Given the description of an element on the screen output the (x, y) to click on. 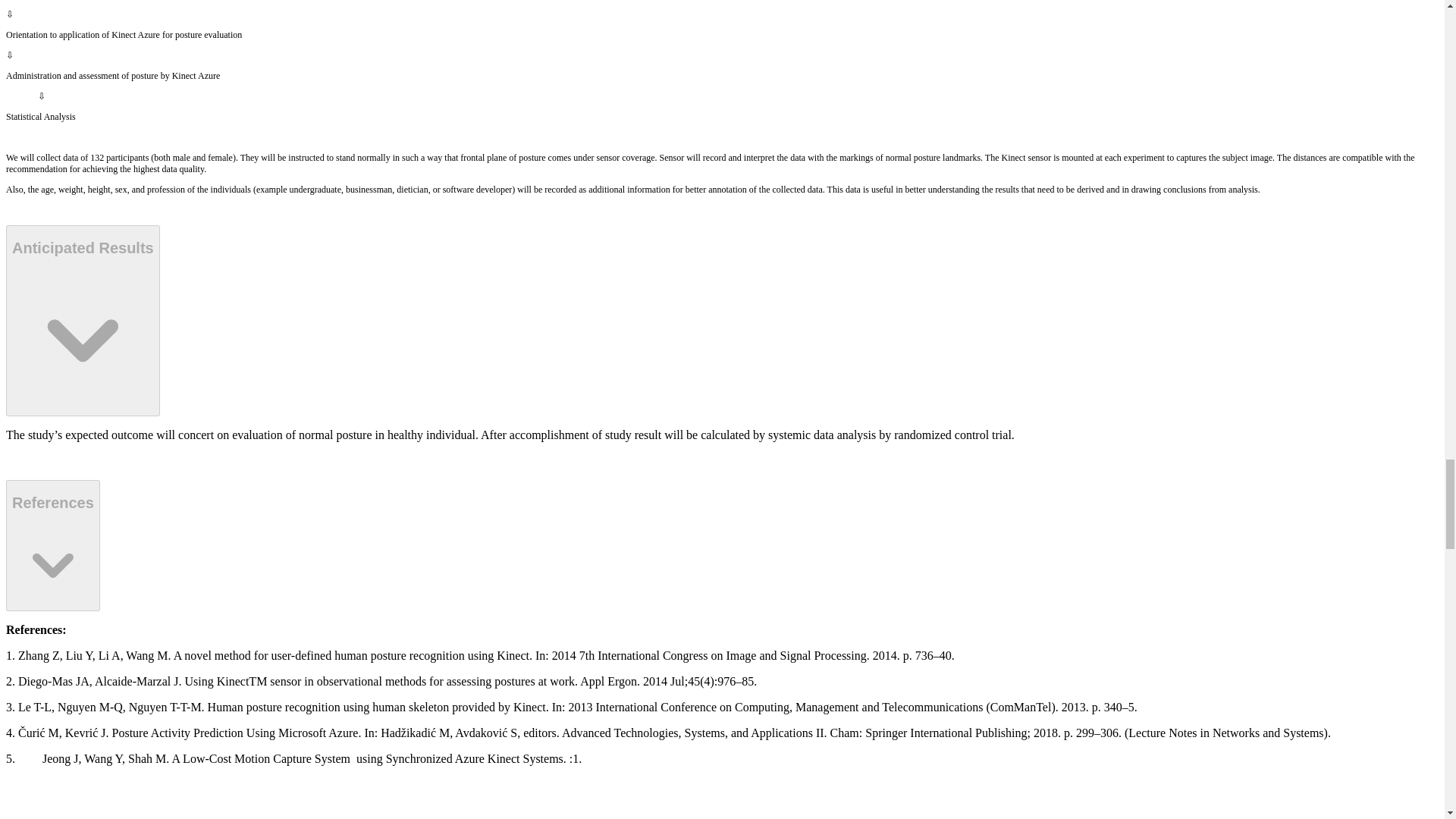
References (52, 544)
Anticipated Results (82, 320)
